Given the description of an element on the screen output the (x, y) to click on. 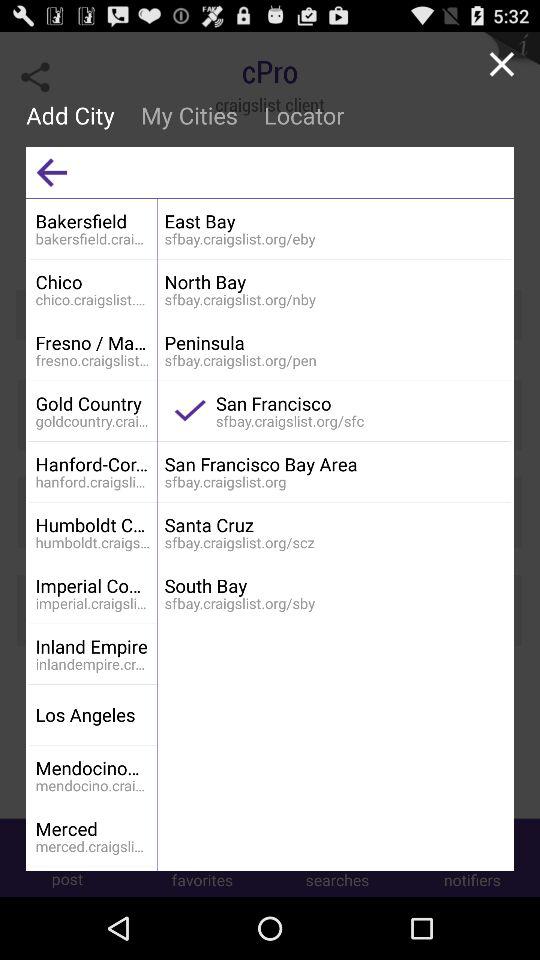
swipe until santa cruz item (334, 524)
